Given the description of an element on the screen output the (x, y) to click on. 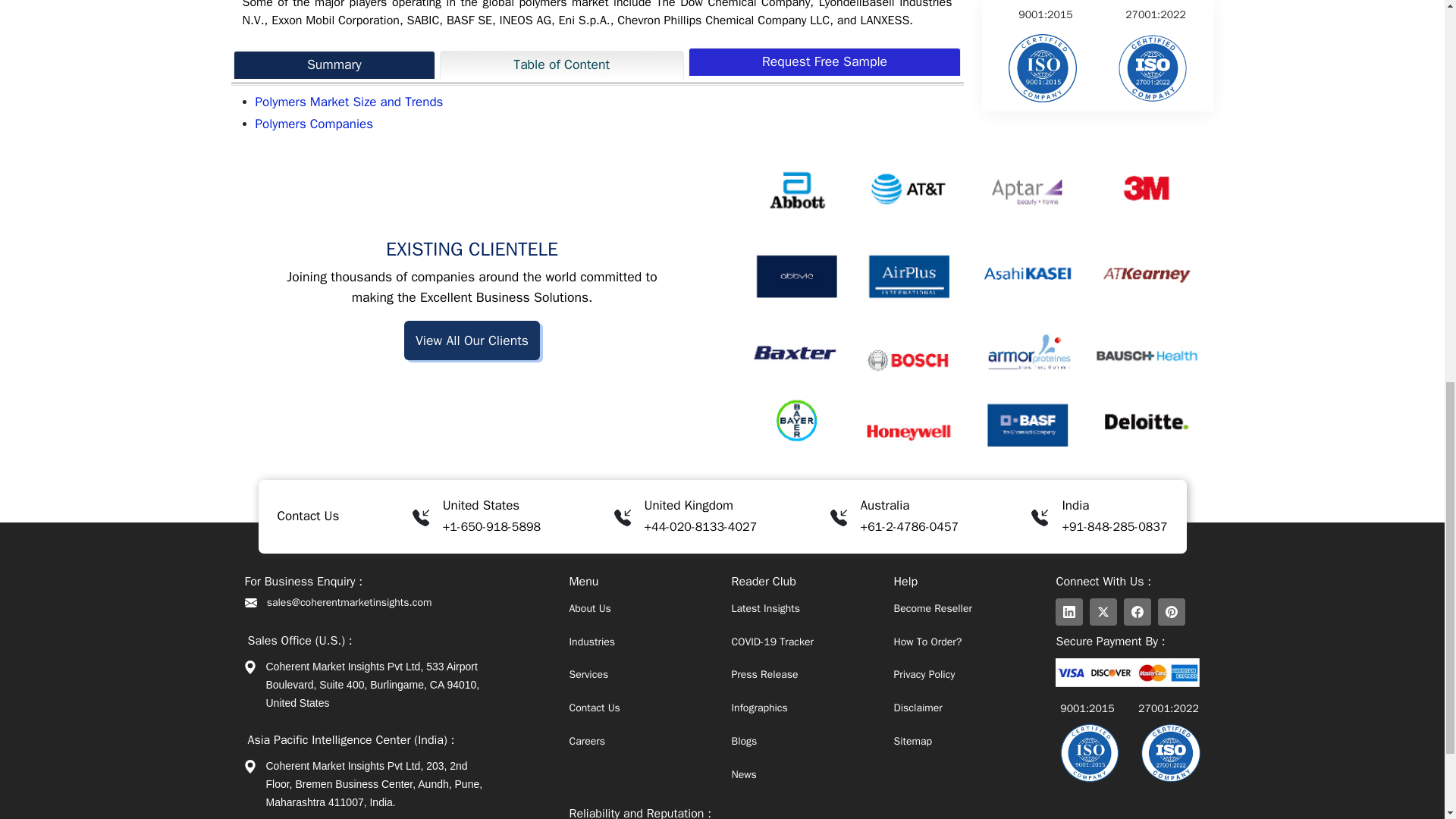
Polymers Market Market Size and Trends (348, 101)
Reliability and Reputation (1152, 4)
Reliability and Reputation (1043, 4)
Call Us (491, 526)
Polymers Market Companies (313, 123)
